Given the description of an element on the screen output the (x, y) to click on. 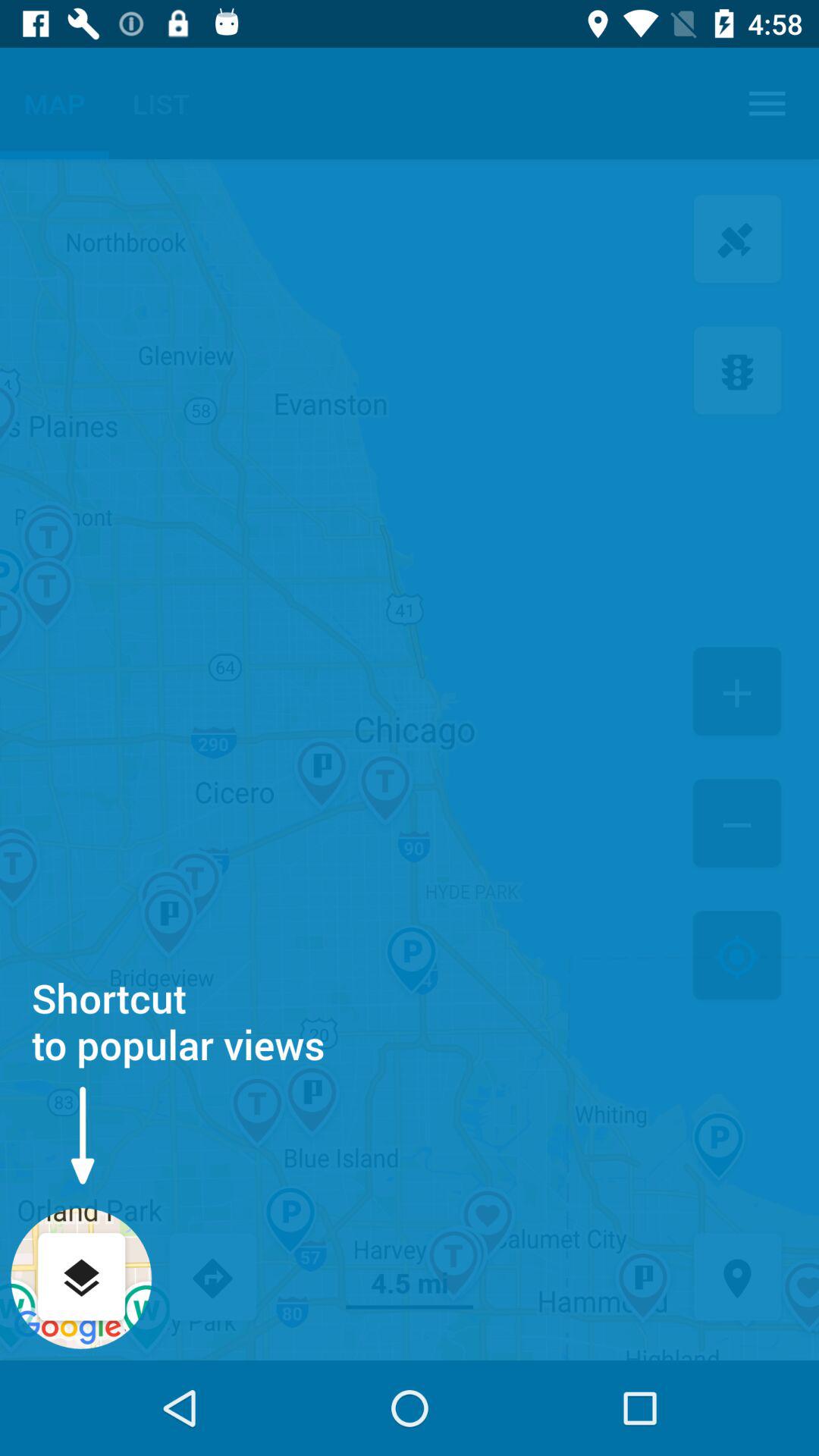
choose the item to the right of 4.5 mi (737, 1278)
